Given the description of an element on the screen output the (x, y) to click on. 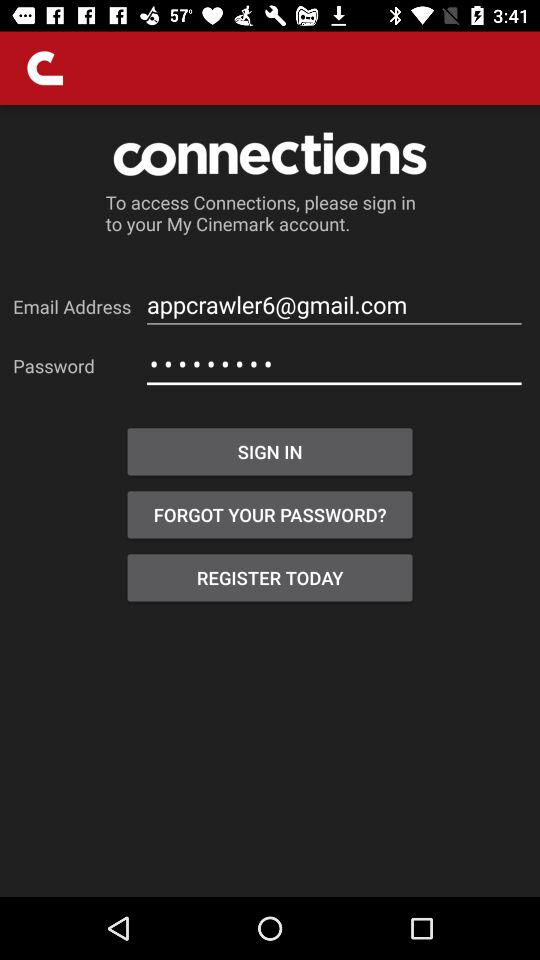
select the forgot your password? icon (269, 514)
